Given the description of an element on the screen output the (x, y) to click on. 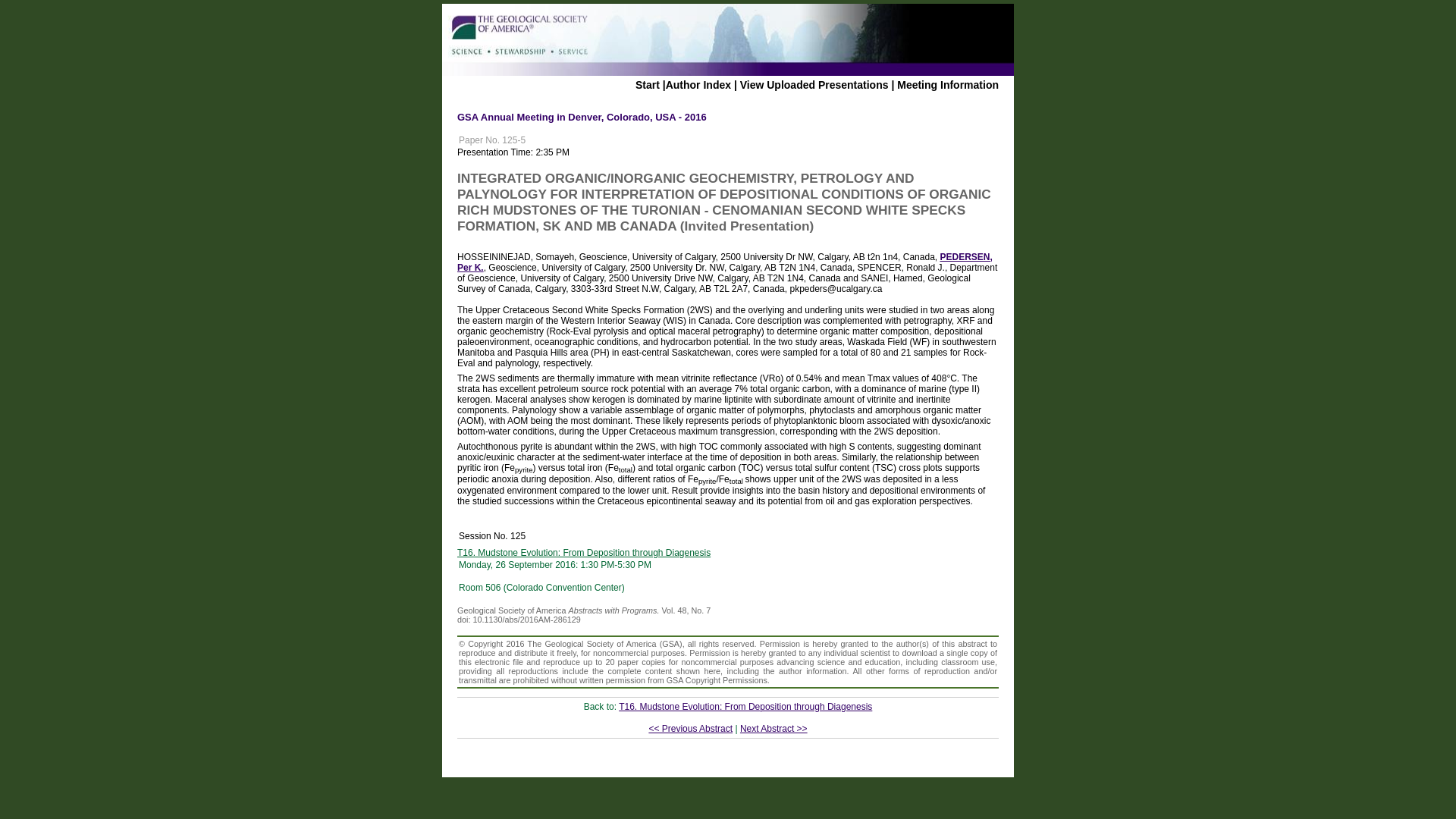
View Uploaded Presentations (813, 84)
PEDERSEN, Per K. (724, 261)
Start (646, 84)
Meeting Information (947, 84)
Author Index (697, 84)
T16. Mudstone Evolution: From Deposition through Diagenesis (583, 552)
T16. Mudstone Evolution: From Deposition through Diagenesis (745, 706)
